Given the description of an element on the screen output the (x, y) to click on. 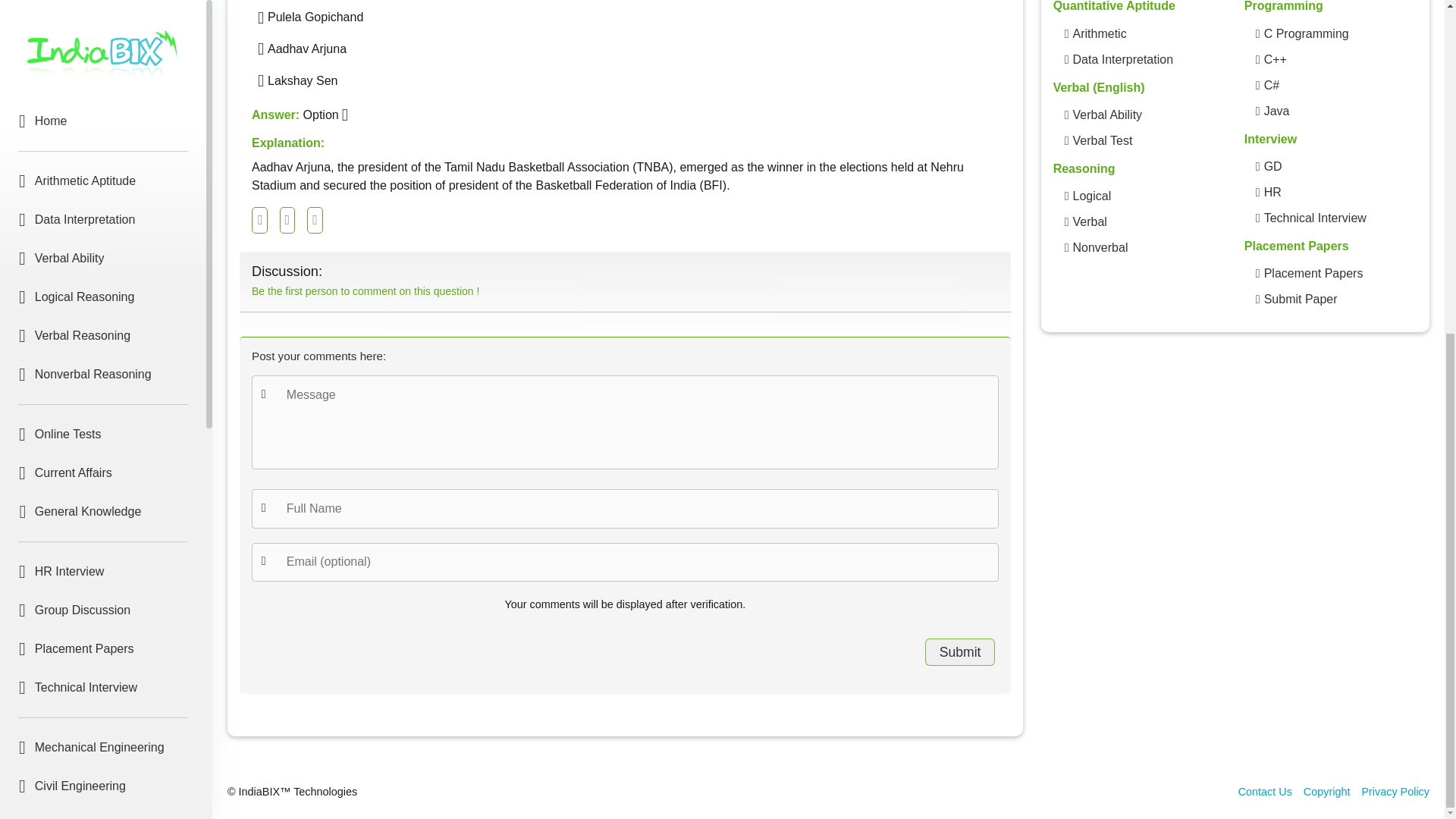
Java (103, 560)
Technical Interview (103, 131)
Database (103, 599)
Nonverbal Reasoning (1098, 248)
Logical Reasoning (1090, 196)
Arithmetic Aptitude (1098, 34)
Technical Interview Questions (1315, 218)
Mechanical Engineering (103, 191)
CSE (103, 346)
HR Interview (103, 16)
Civil Engineering (103, 230)
ECE (103, 268)
C Programming (103, 444)
Java Programming (1276, 111)
Biochemistry (103, 736)
